Given the description of an element on the screen output the (x, y) to click on. 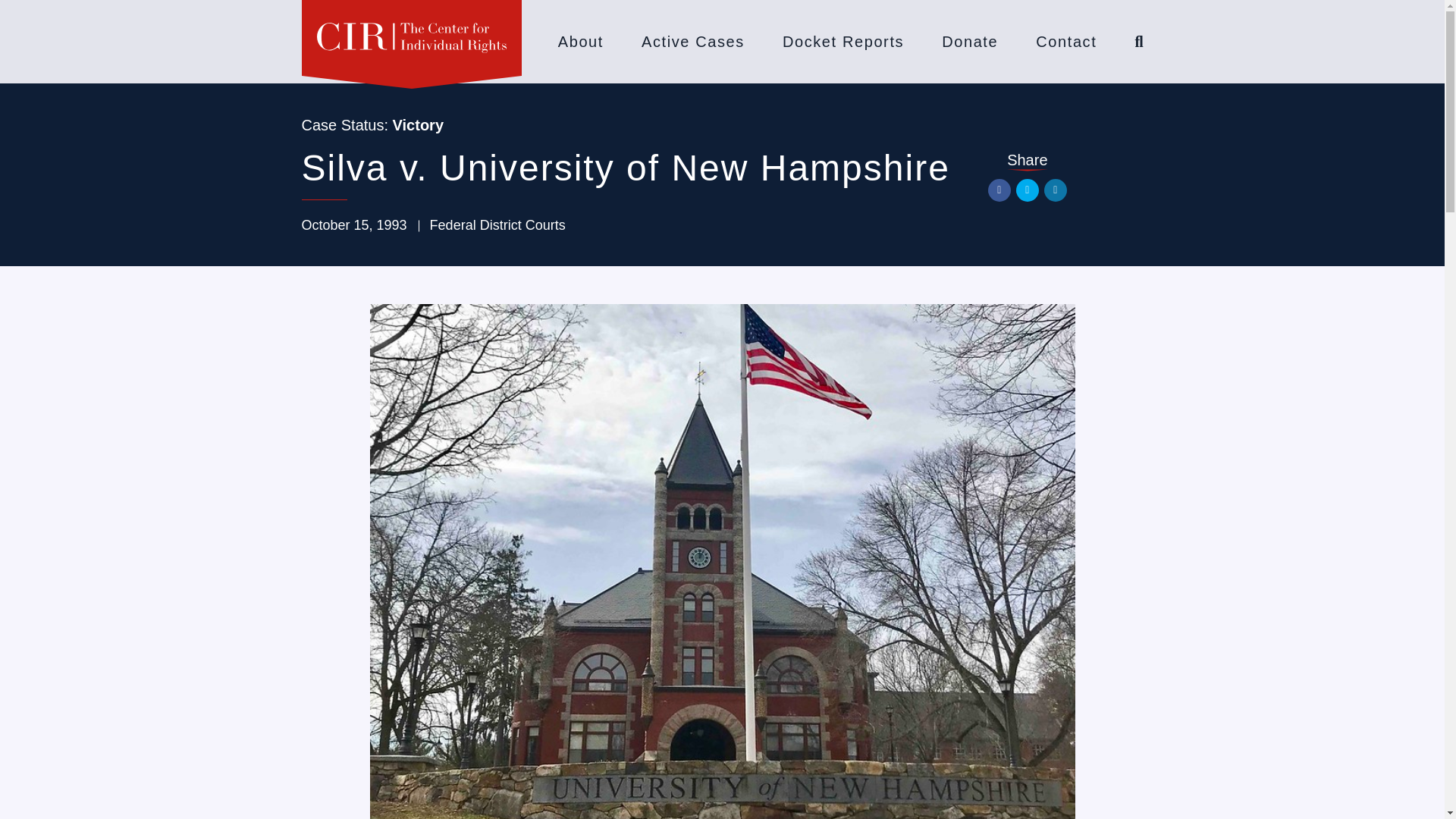
Active Cases (693, 41)
LinkedIn (1055, 190)
Twitter (1027, 190)
About (580, 41)
Facebook (999, 190)
Docket Reports (843, 41)
Donate (969, 41)
Contact (1065, 41)
